Given the description of an element on the screen output the (x, y) to click on. 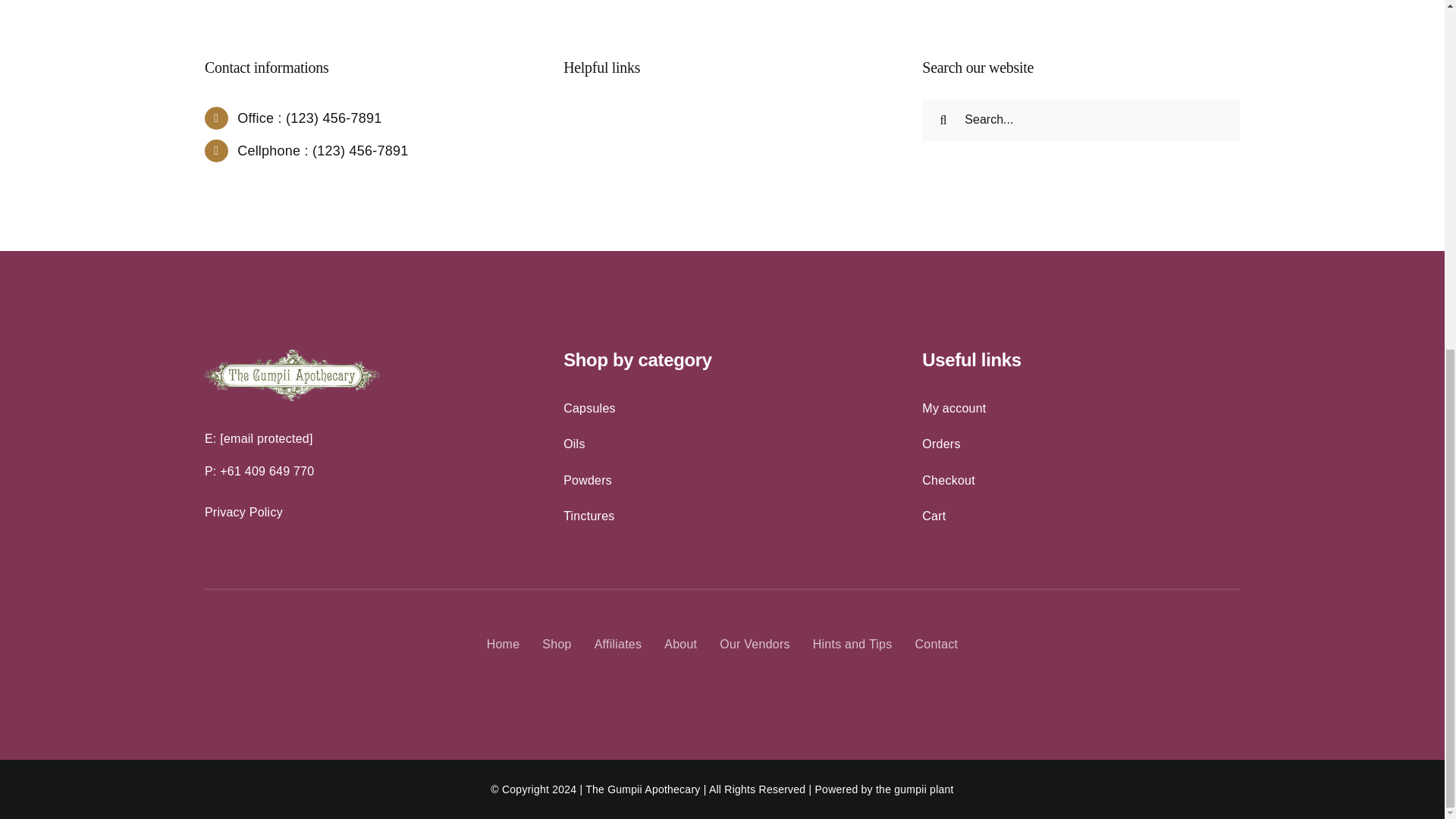
Orders (1080, 443)
Tinctures (721, 515)
Cart (1080, 515)
My account (1080, 408)
Capsules (721, 408)
Checkout (1080, 480)
Privacy Policy (363, 512)
Oils (721, 443)
Powders (721, 480)
